Given the description of an element on the screen output the (x, y) to click on. 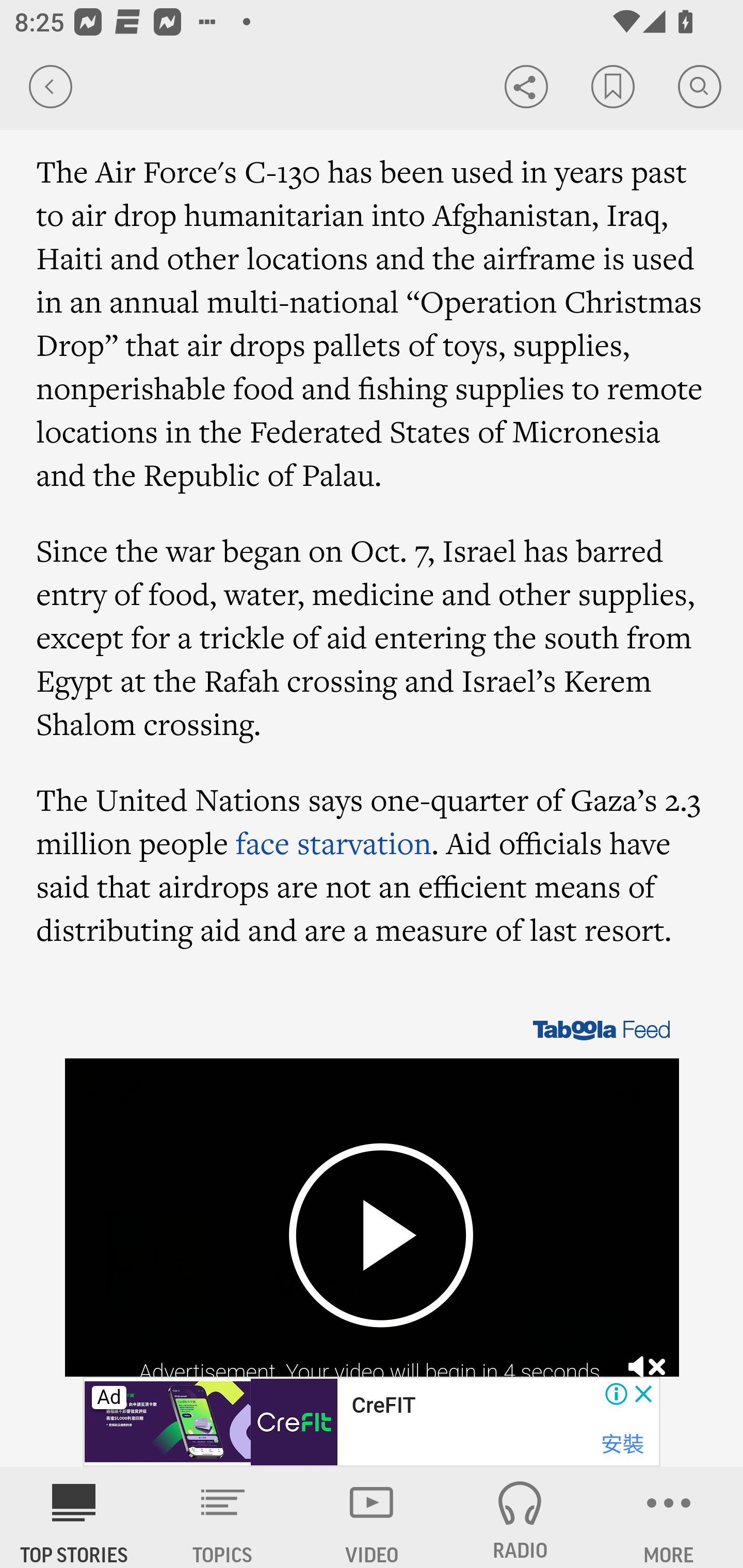
face starvation (333, 843)
CreFIT (382, 1405)
安裝 (621, 1444)
AP News TOP STORIES (74, 1517)
TOPICS (222, 1517)
VIDEO (371, 1517)
RADIO (519, 1517)
MORE (668, 1517)
